Given the description of an element on the screen output the (x, y) to click on. 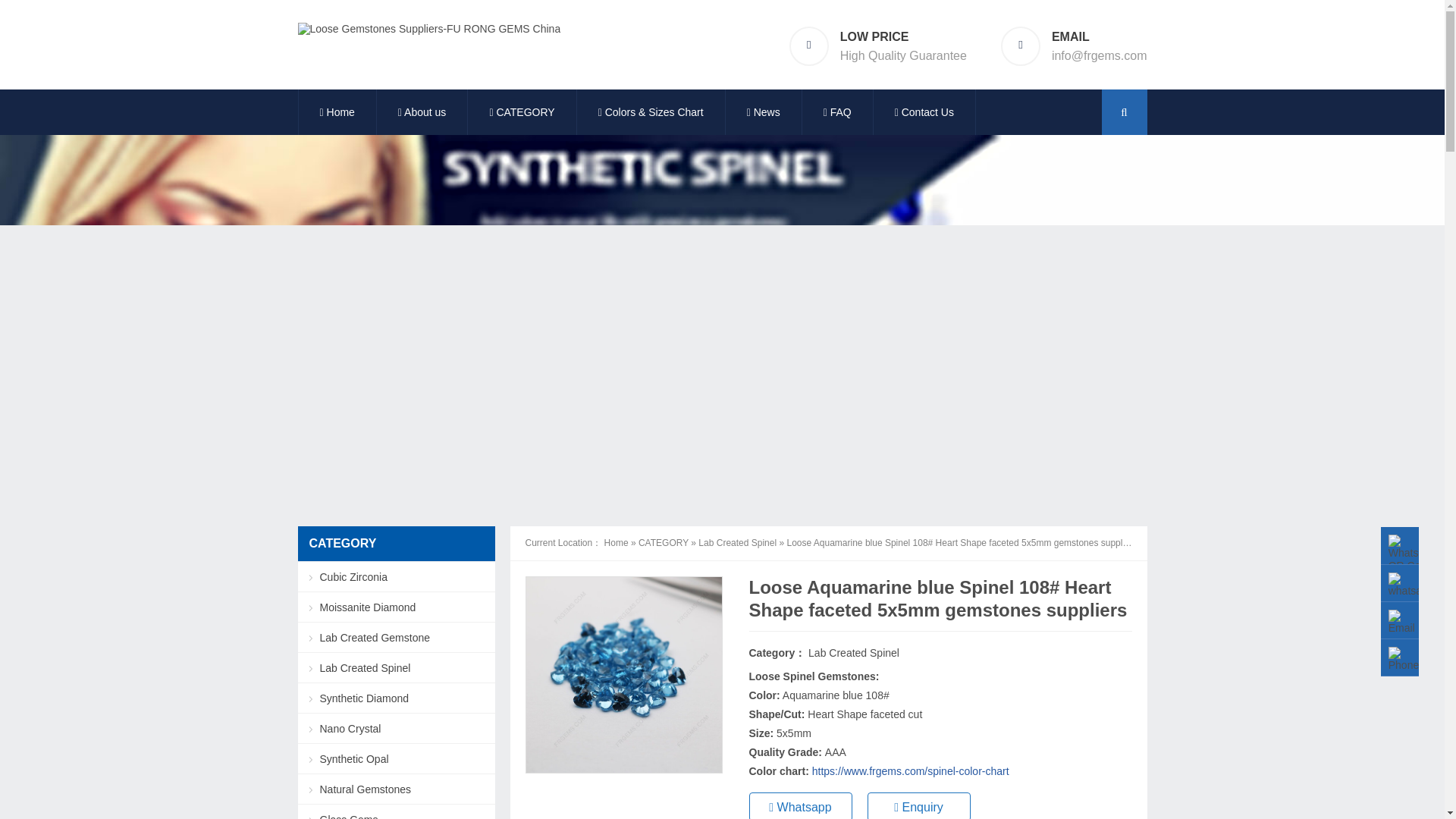
Whatsapp QR Code (1412, 553)
whatsapp (1410, 585)
Home (336, 112)
About us (422, 112)
Contact Us (924, 112)
News (763, 112)
FAQ (837, 112)
CATEGORY (521, 112)
